Given the description of an element on the screen output the (x, y) to click on. 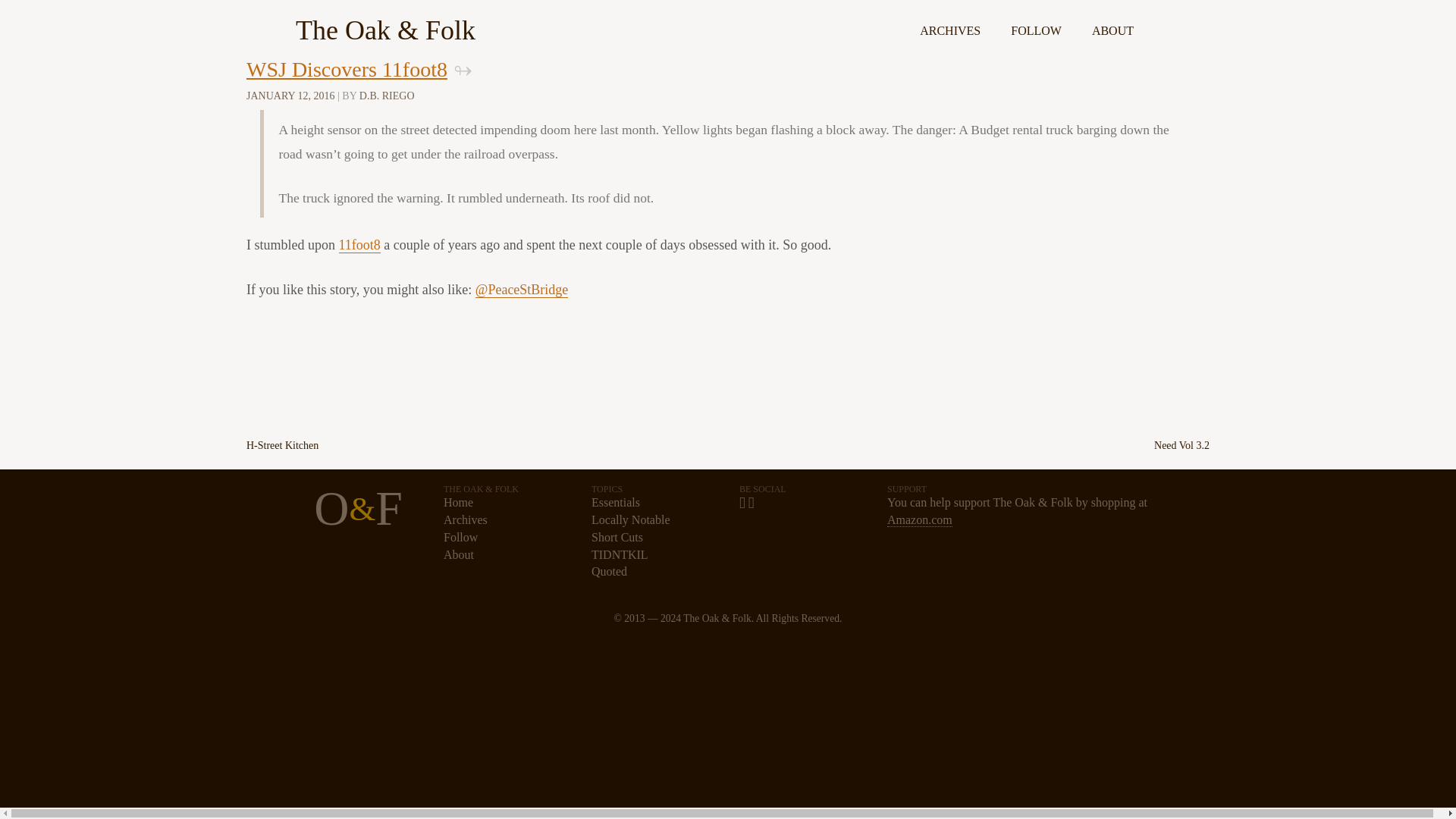
H-Street Kitchen (282, 445)
FOLLOW (1036, 24)
Need Vol 3.2 (1181, 445)
ABOUT (1112, 24)
Essentials (615, 502)
Short Cuts (617, 537)
WSJ Discovers 11foot8 (346, 69)
Locally Notable (630, 520)
Home (458, 502)
11foot8 (358, 245)
ARCHIVES (949, 24)
About (459, 554)
Quoted (609, 571)
Archives (465, 520)
Amazon.com (919, 520)
